Given the description of an element on the screen output the (x, y) to click on. 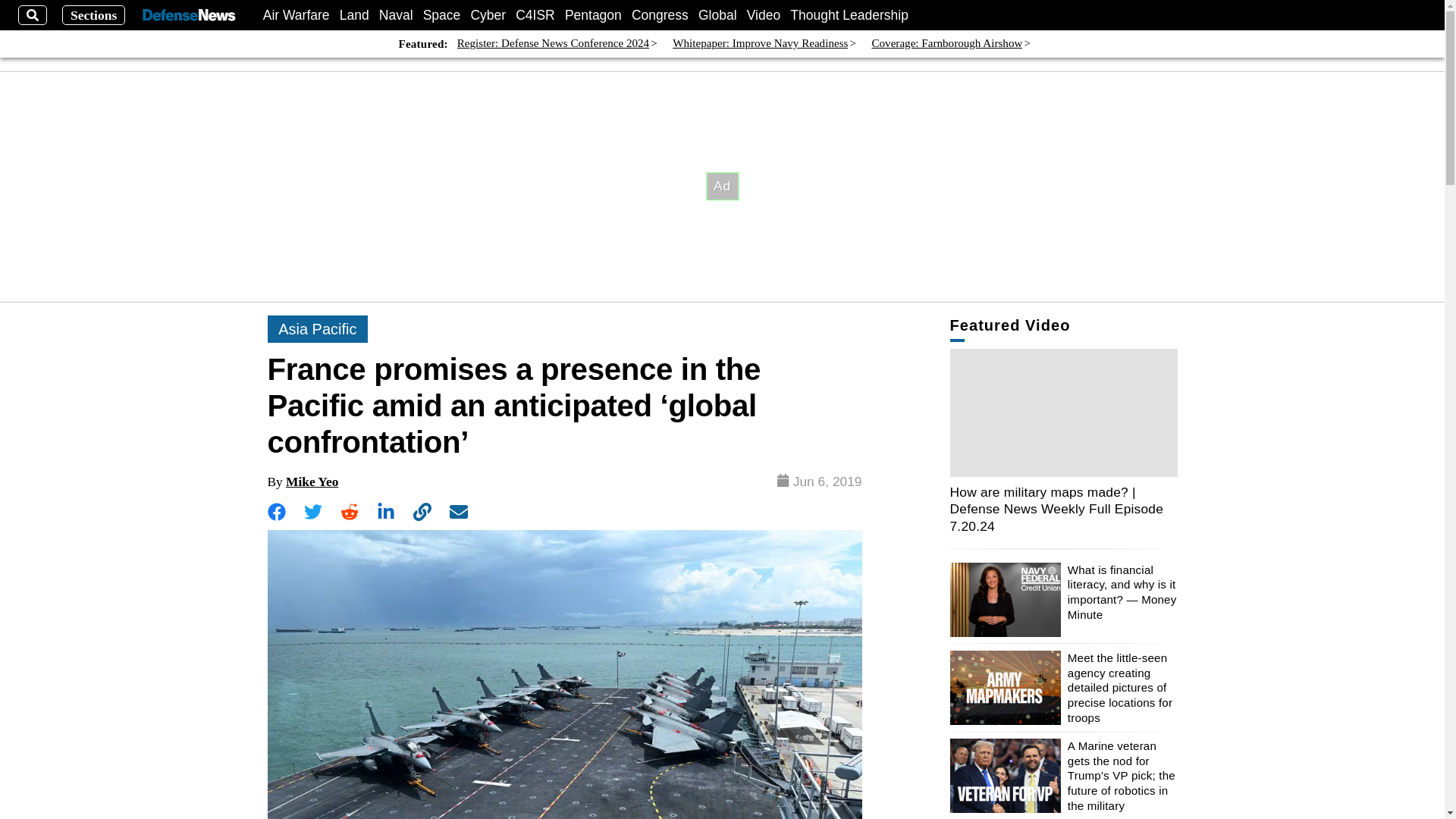
Defense News Logo (188, 14)
Land (354, 14)
Video (763, 14)
Pentagon (592, 14)
Congress (659, 14)
Air Warfare (296, 14)
Sections (93, 14)
Space (442, 14)
Thought Leadership (849, 14)
Naval (395, 14)
Global (717, 14)
